Given the description of an element on the screen output the (x, y) to click on. 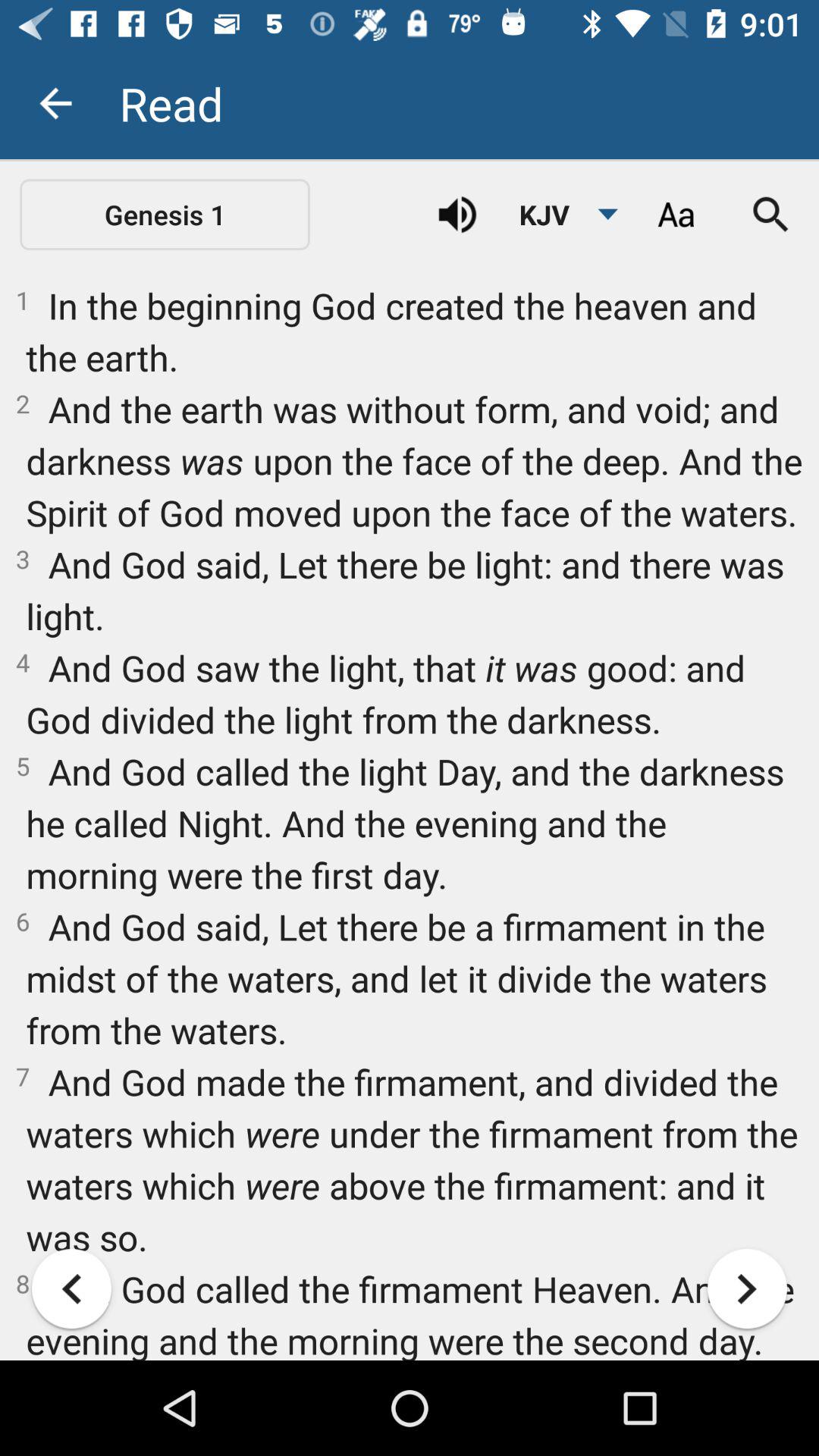
press item at the bottom left corner (71, 1288)
